Given the description of an element on the screen output the (x, y) to click on. 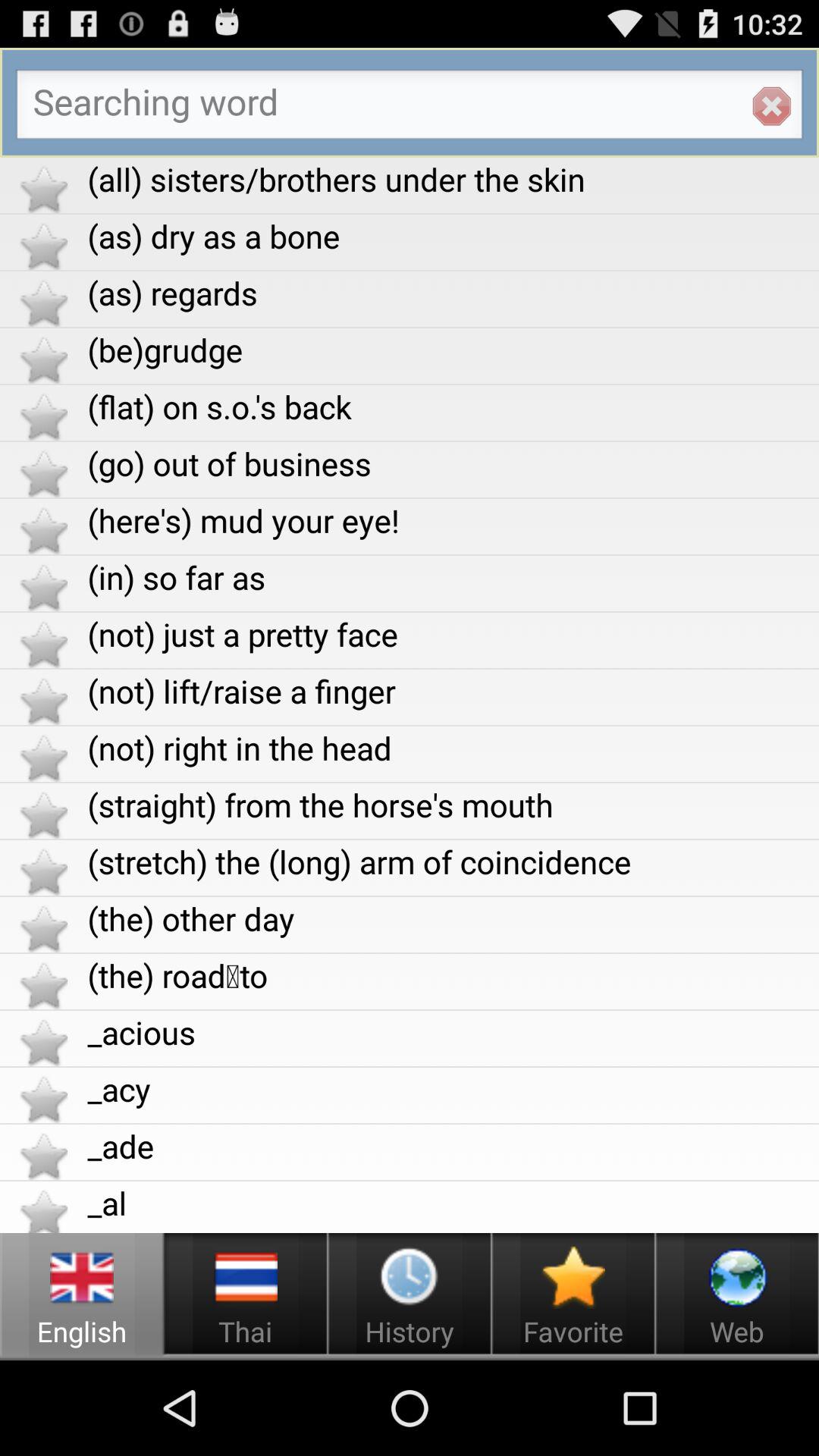
flip until the not lift raise item (453, 690)
